Given the description of an element on the screen output the (x, y) to click on. 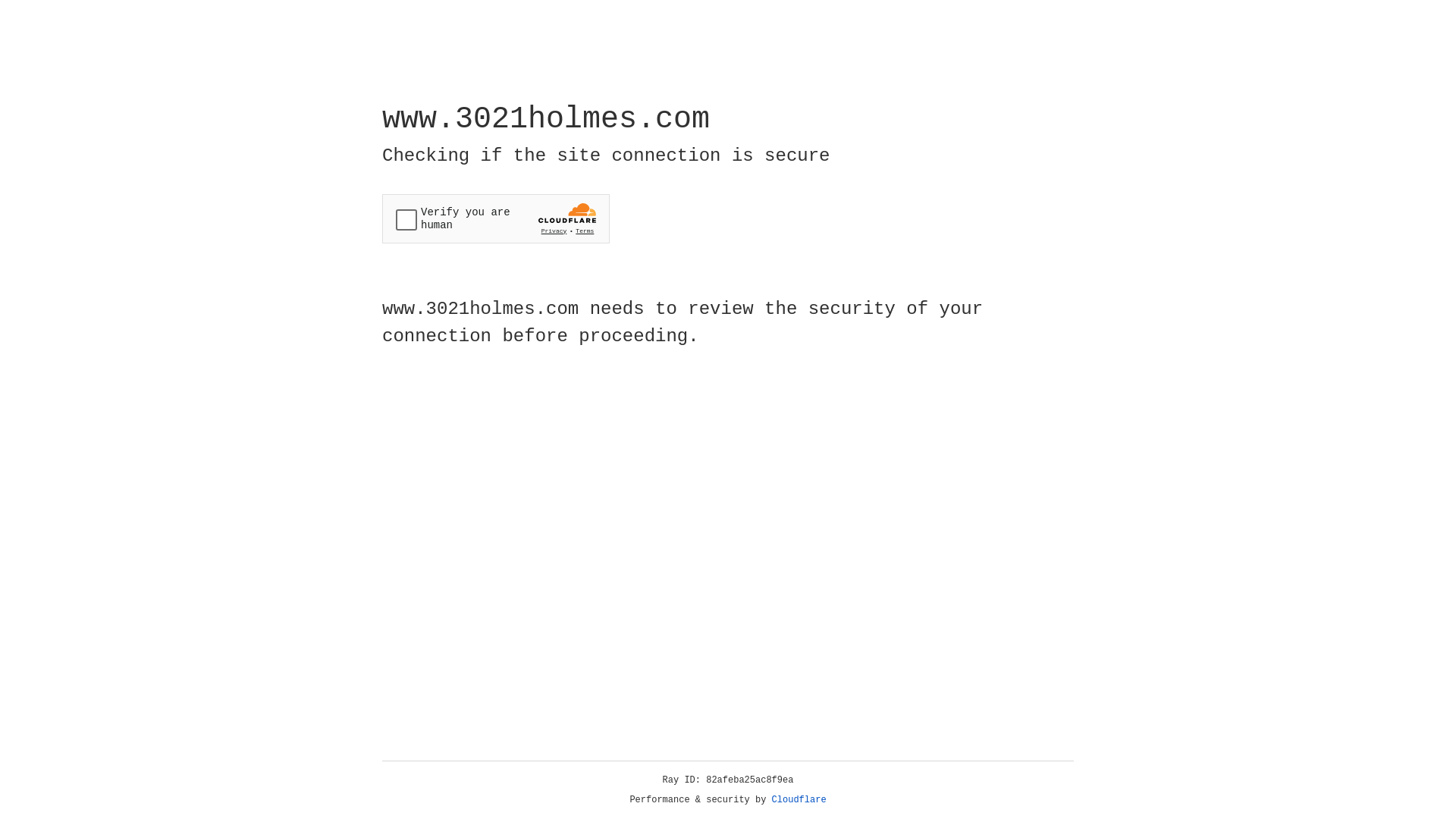
Cloudflare Element type: text (798, 799)
Widget containing a Cloudflare security challenge Element type: hover (495, 218)
